Given the description of an element on the screen output the (x, y) to click on. 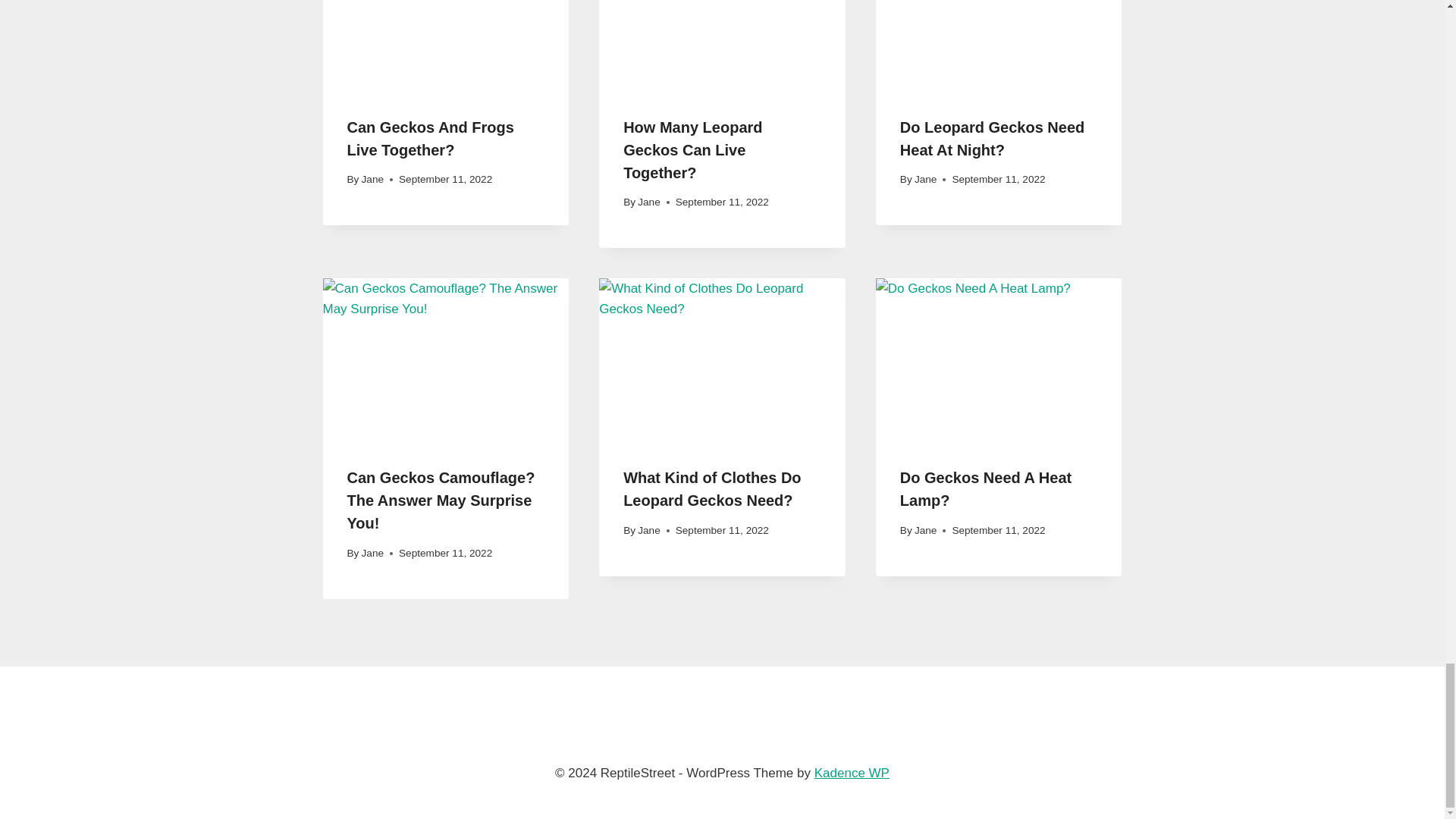
How Many Leopard Geckos Can Live Together? (692, 149)
Jane (372, 179)
Can Geckos And Frogs Live Together? (430, 138)
Jane (925, 179)
Jane (648, 202)
Do Leopard Geckos Need Heat At Night? (991, 138)
